Given the description of an element on the screen output the (x, y) to click on. 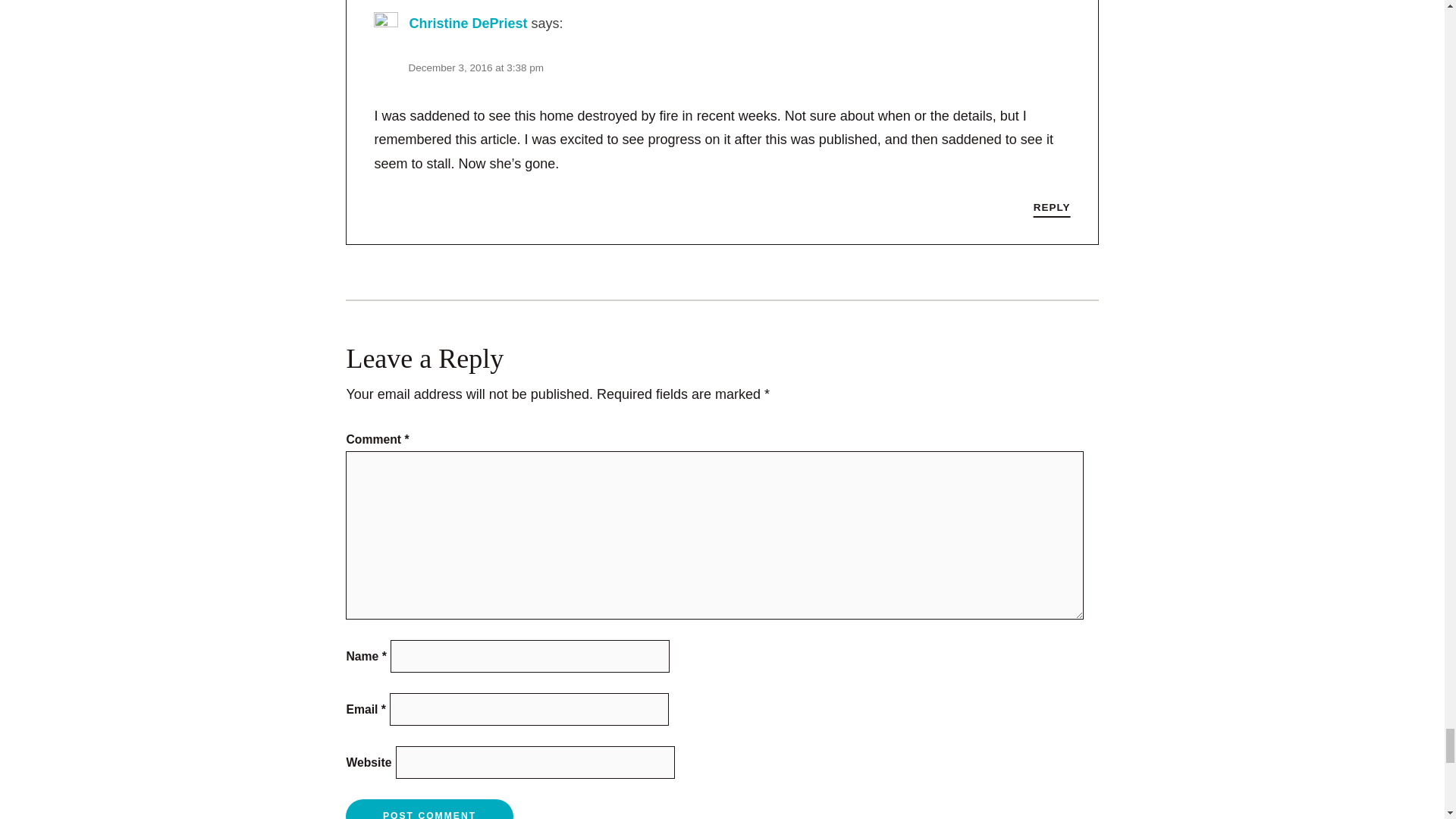
Post Comment (429, 809)
